Given the description of an element on the screen output the (x, y) to click on. 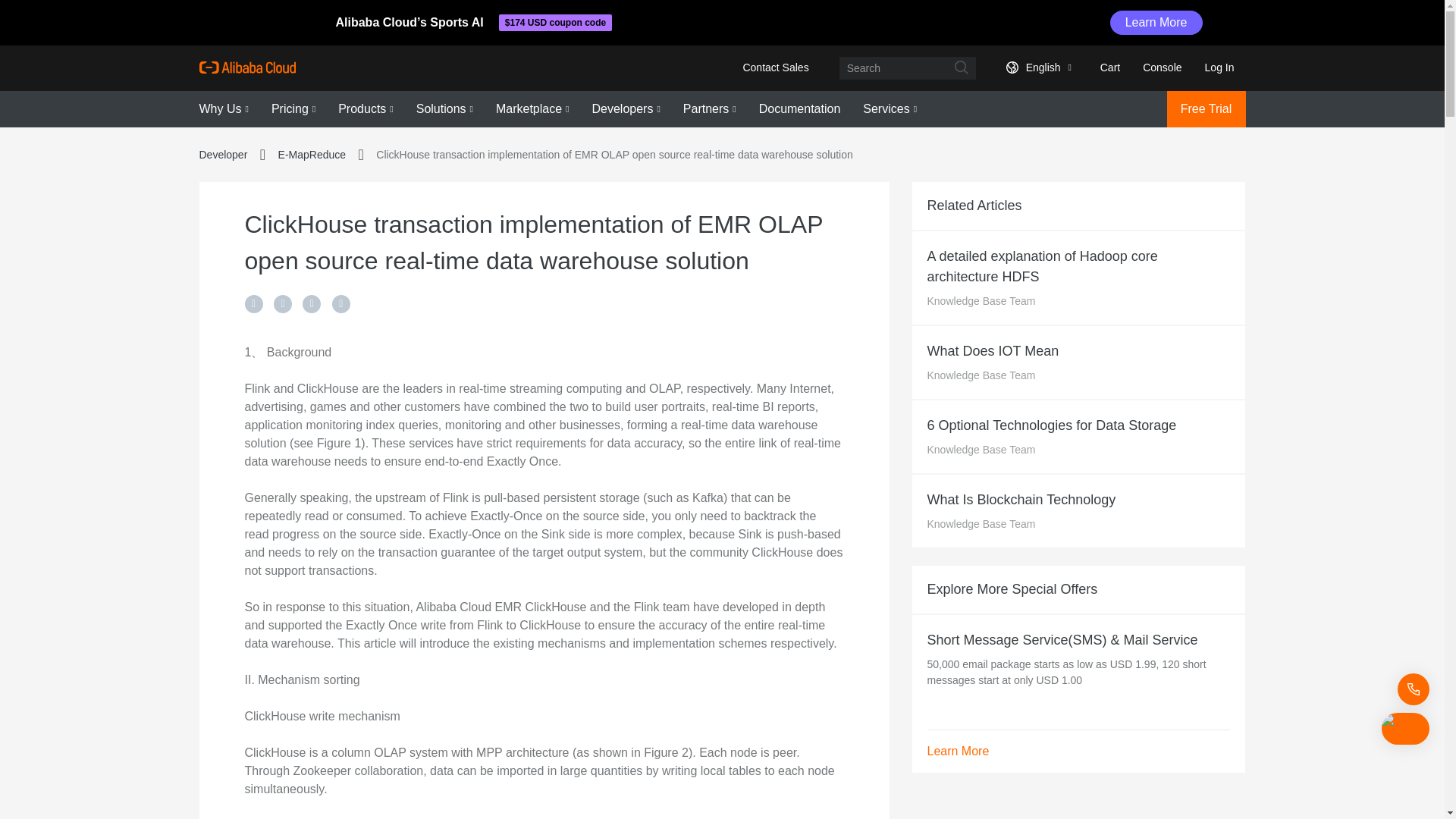
Contact Sales (774, 67)
English (1035, 67)
Alibaba Cloud (246, 67)
